Given the description of an element on the screen output the (x, y) to click on. 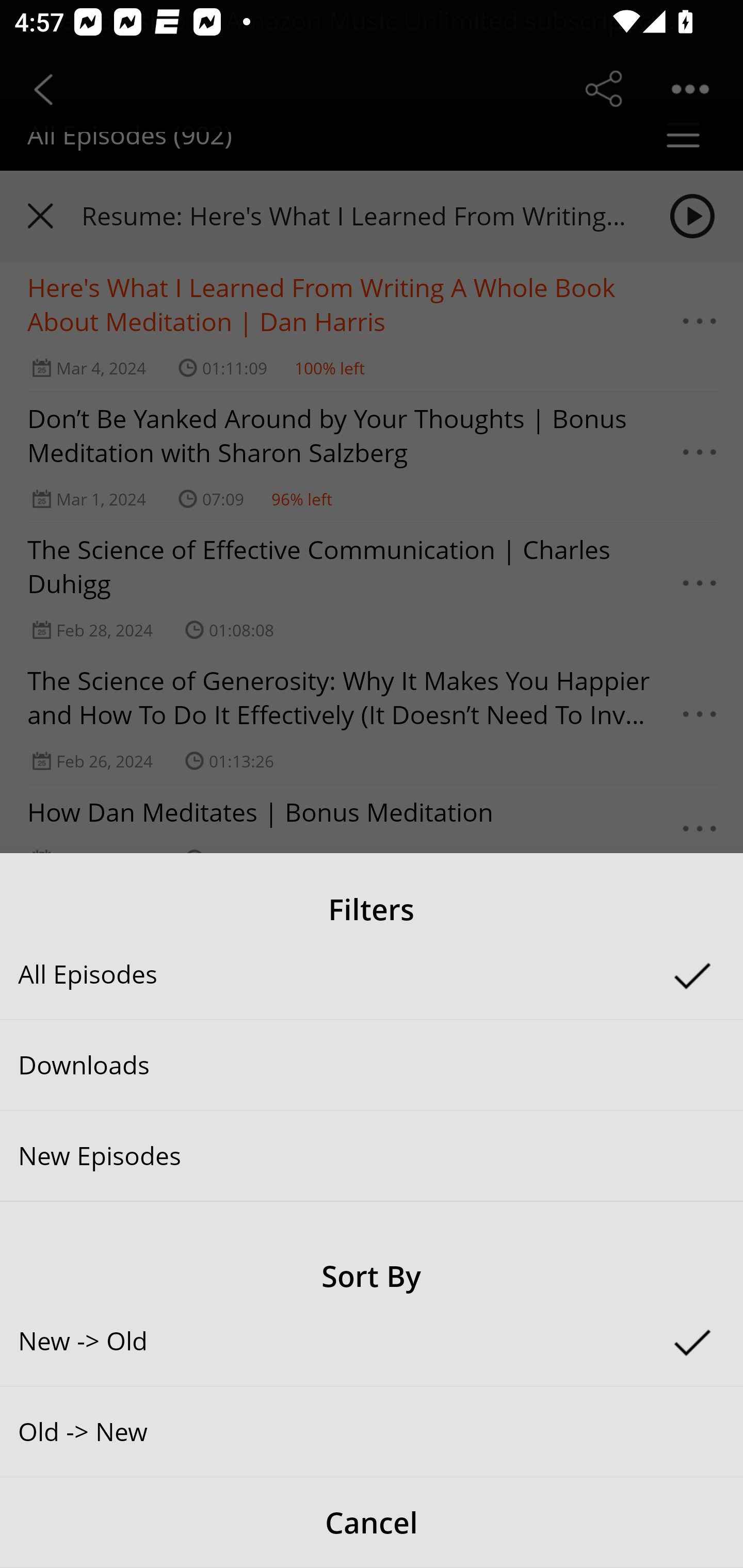
All Episodes (371, 973)
Downloads (371, 1064)
New Episodes (371, 1155)
New -> Old (371, 1340)
Old -> New (371, 1431)
Cancel (371, 1522)
